Given the description of an element on the screen output the (x, y) to click on. 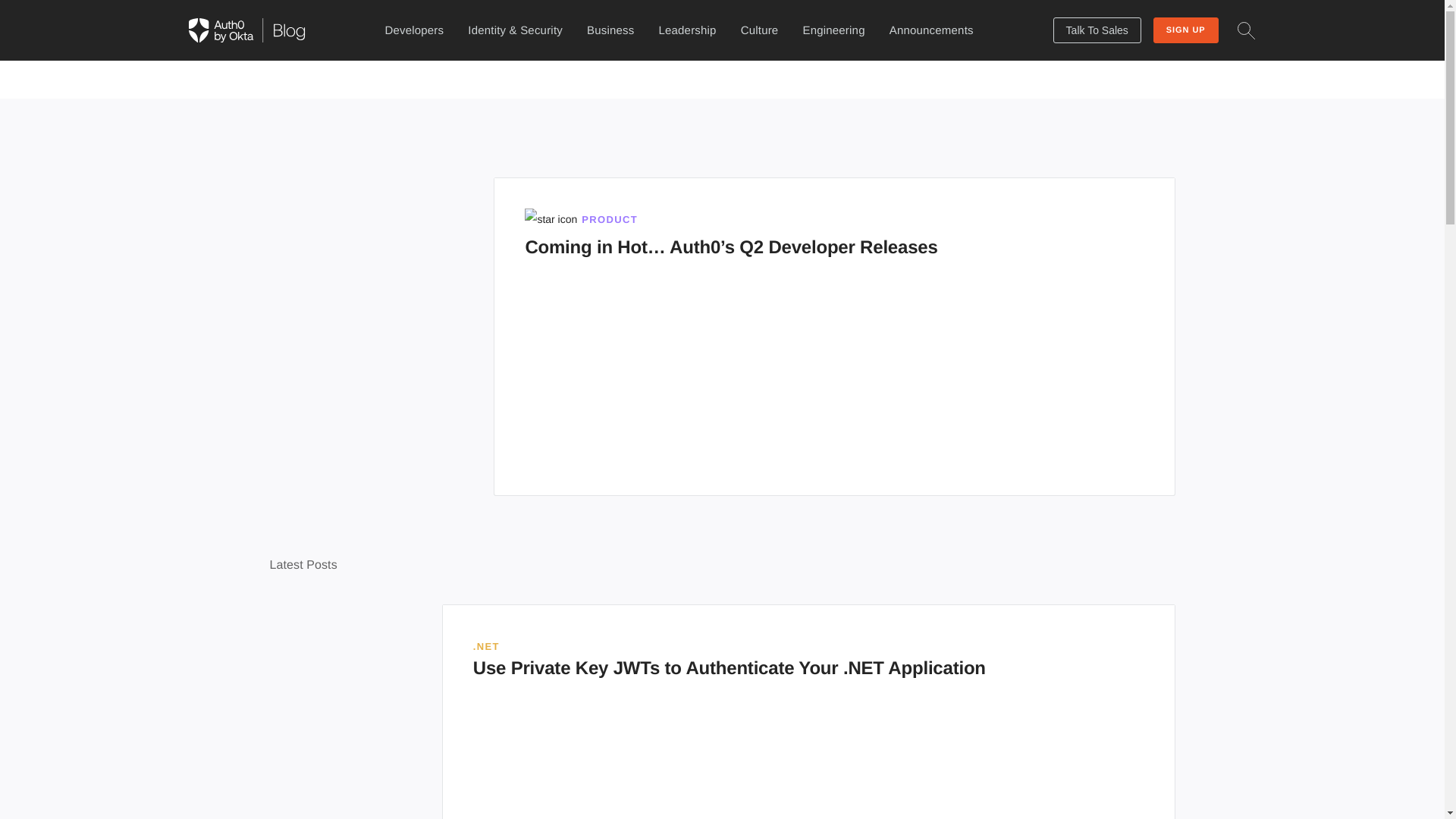
SIGN UP (1185, 30)
Business (609, 30)
Engineering (833, 30)
Leadership (834, 234)
Talk To Sales (687, 30)
Developers (1096, 30)
Announcements (414, 30)
